Given the description of an element on the screen output the (x, y) to click on. 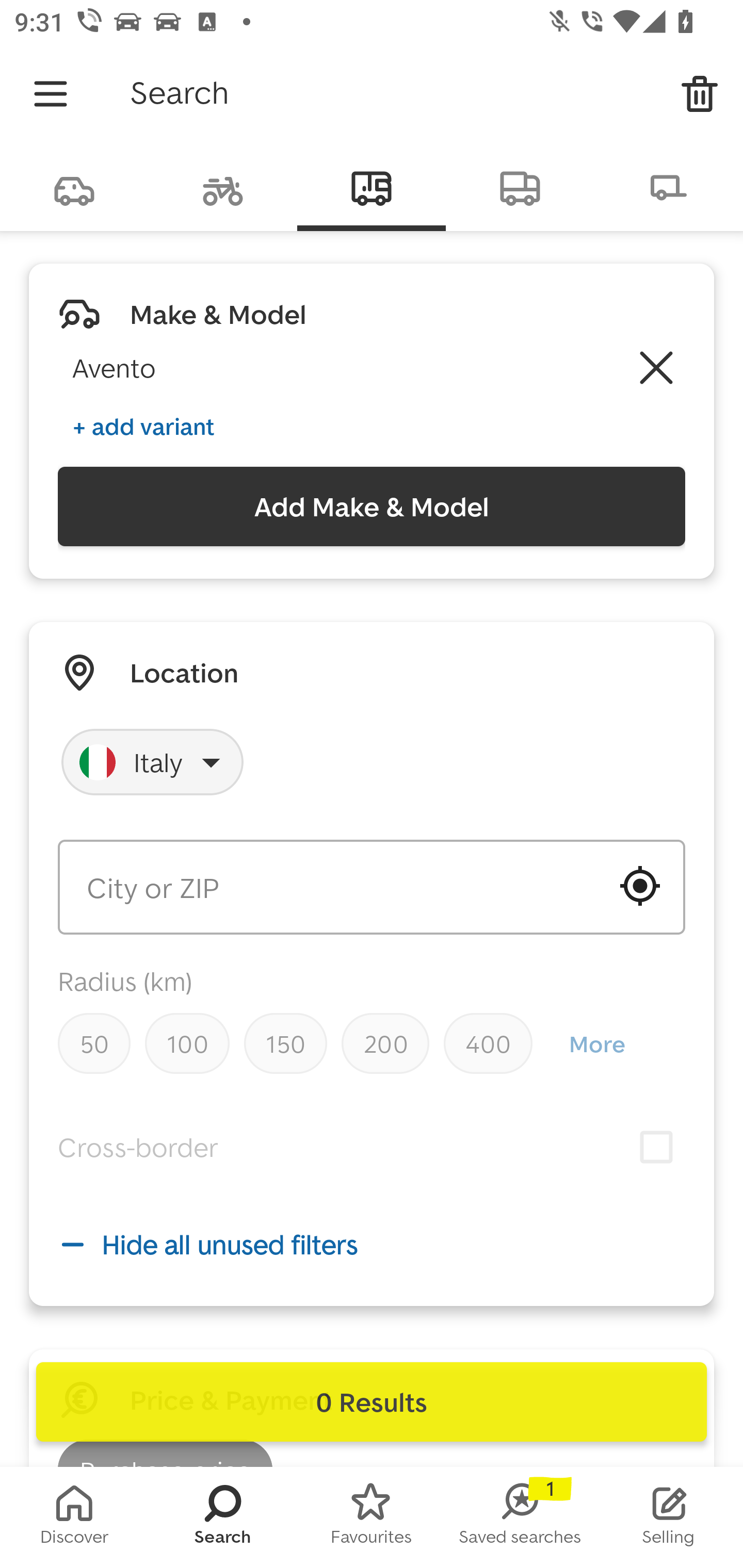
Navigate up (50, 93)
New search (699, 93)
CAR_SEARCH (74, 187)
BIKE_SEARCH (222, 187)
TRUCKS_SEARCH (519, 187)
TRAILERS_SEARCH (668, 187)
Make & Model (218, 314)
+ add variant (143, 426)
Add Make & Model (371, 506)
Location (184, 672)
Italy (152, 761)
City or ZIP (371, 887)
Radius (km) (124, 980)
50 (93, 1043)
100 (186, 1043)
150 (284, 1043)
200 (385, 1043)
400 (487, 1043)
More (596, 1043)
Hide all unused filters (371, 1244)
0 Results (371, 1401)
HOMESCREEN Discover (74, 1517)
SEARCH Search (222, 1517)
FAVORITES Favourites (371, 1517)
SAVED_SEARCHES Saved searches 1 (519, 1517)
STOCK_LIST Selling (668, 1517)
